Given the description of an element on the screen output the (x, y) to click on. 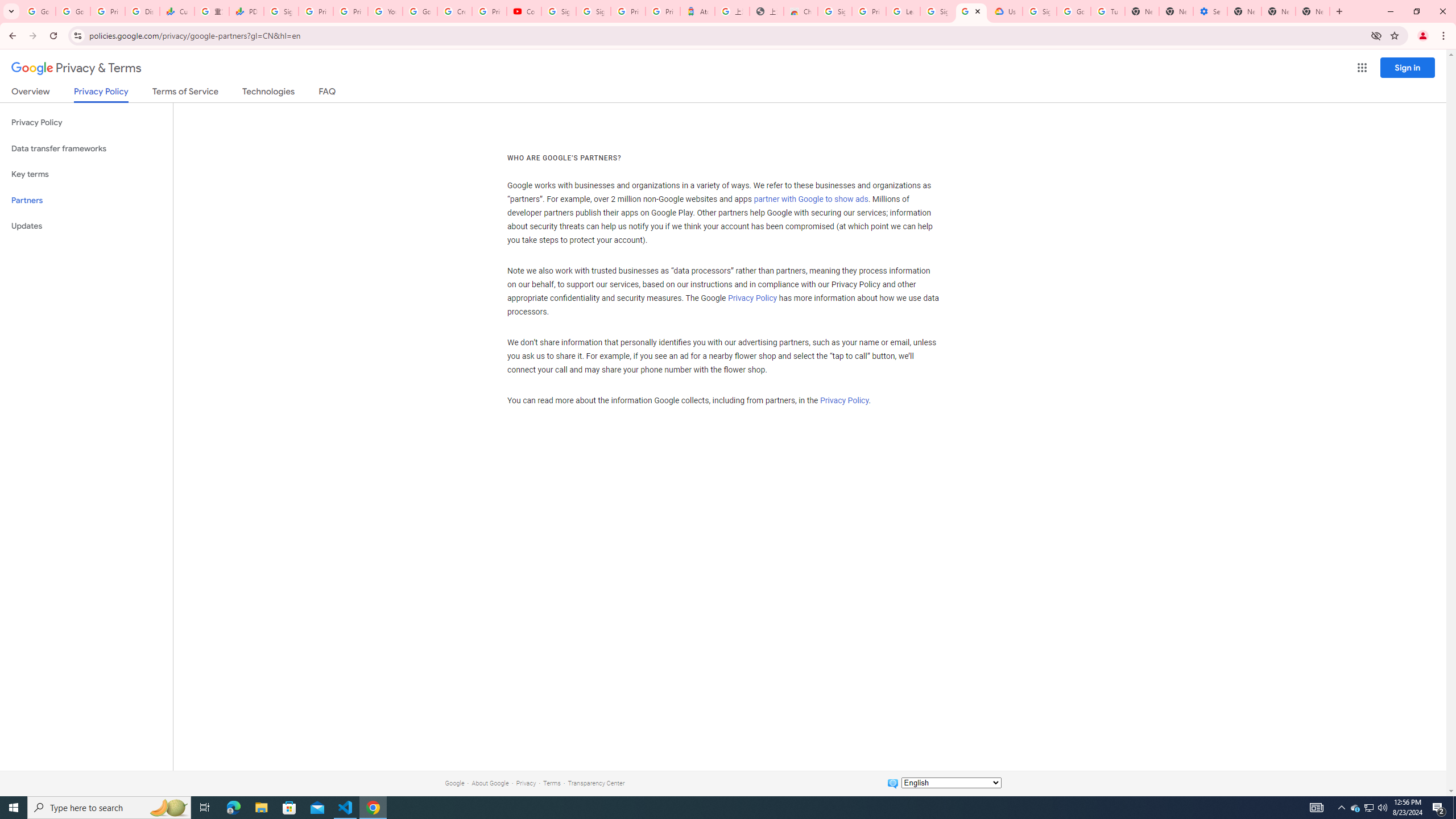
Currencies - Google Finance (176, 11)
Chrome Web Store - Color themes by Chrome (800, 11)
Privacy Policy (844, 400)
Change language: (951, 782)
Google Account Help (419, 11)
Technologies (268, 93)
